Given the description of an element on the screen output the (x, y) to click on. 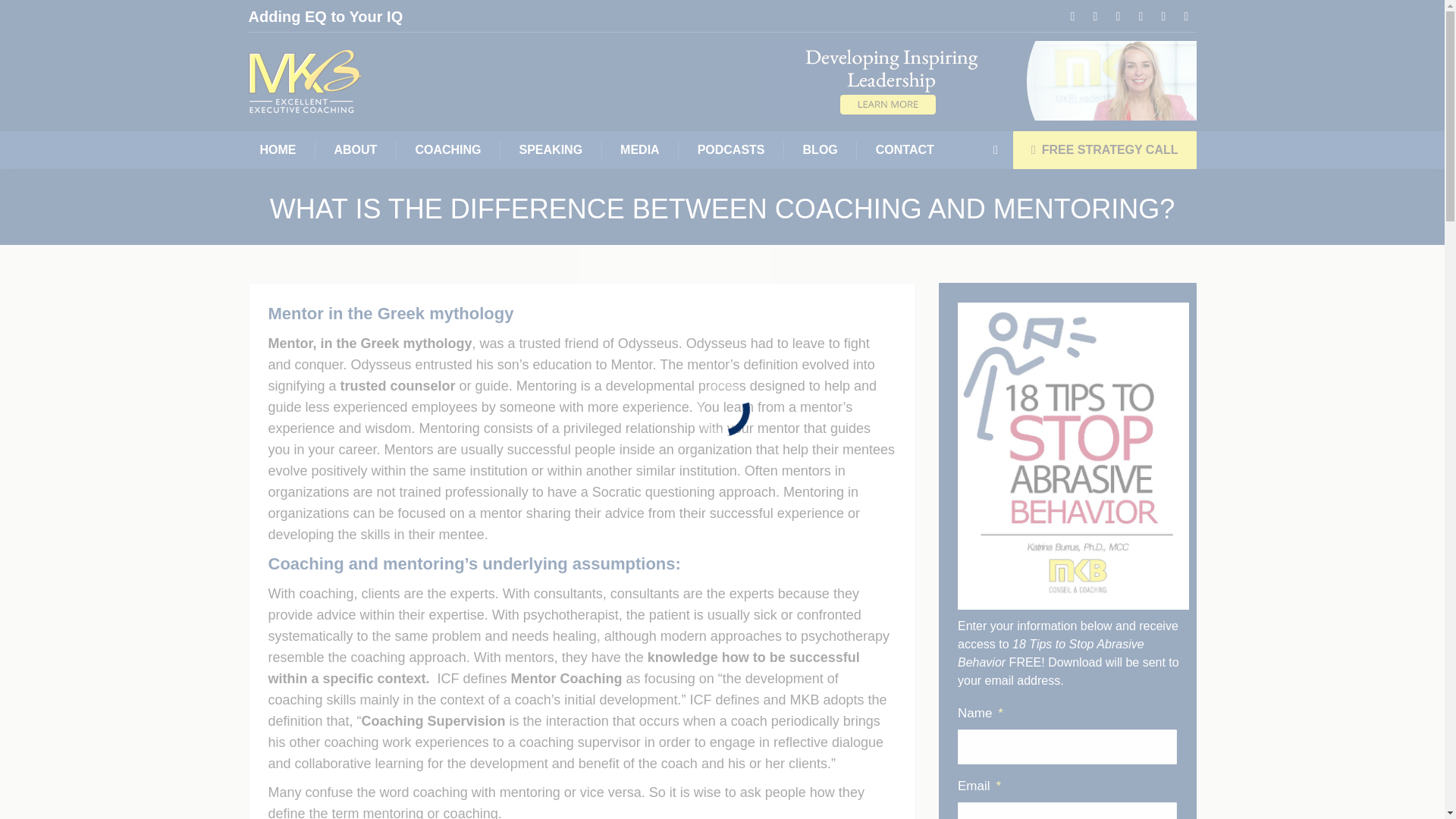
ABOUT (355, 149)
COACHING (447, 149)
MEDIA (639, 149)
Instagram page opens in new window (1163, 16)
BLOG (820, 149)
HOME (277, 149)
Linkedin page opens in new window (1118, 16)
Facebook page opens in new window (1072, 16)
YouTube page opens in new window (1141, 16)
Instagram page opens in new window (1163, 16)
